Given the description of an element on the screen output the (x, y) to click on. 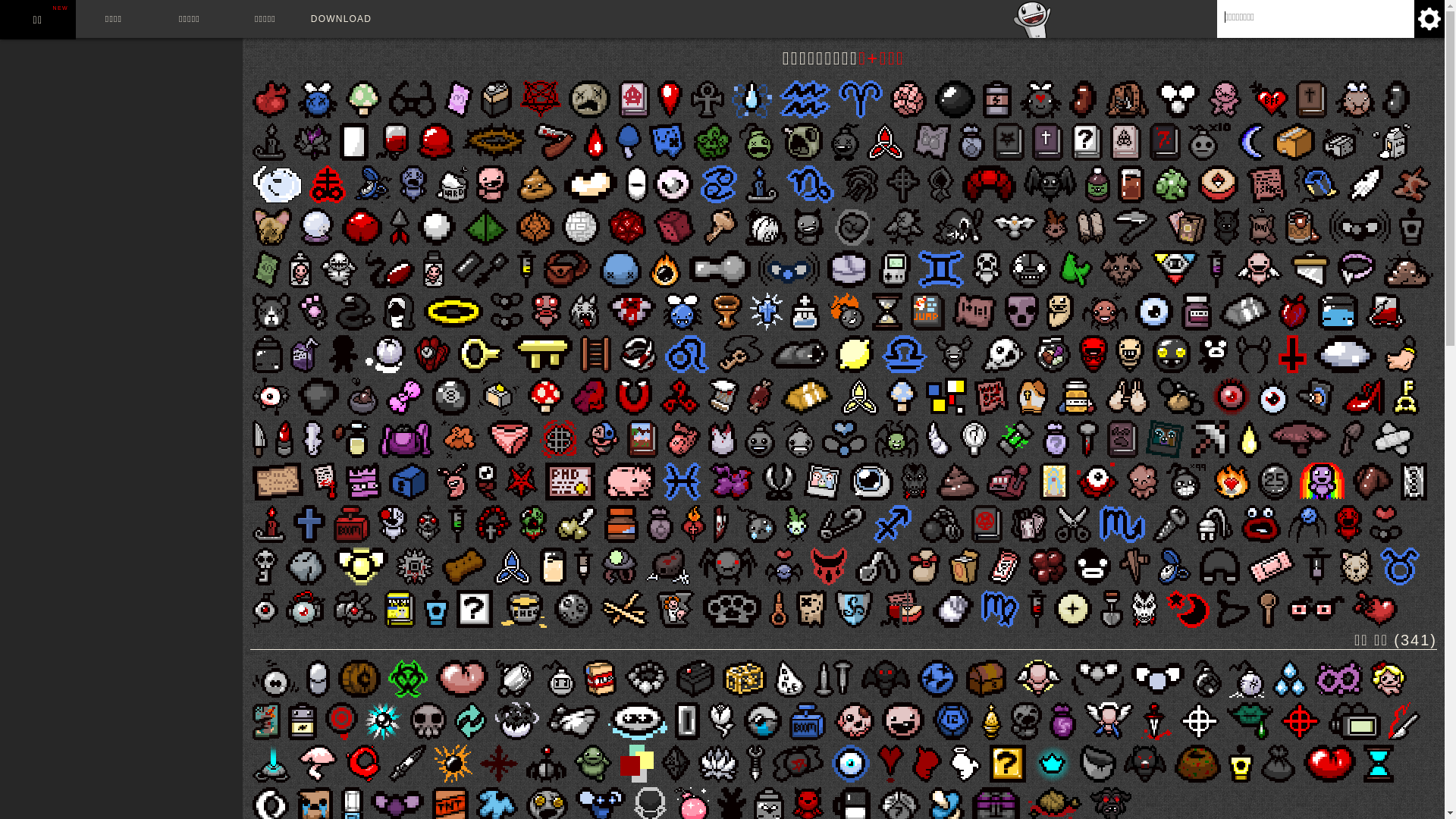
DOWNLOAD Element type: text (341, 18)
